Given the description of an element on the screen output the (x, y) to click on. 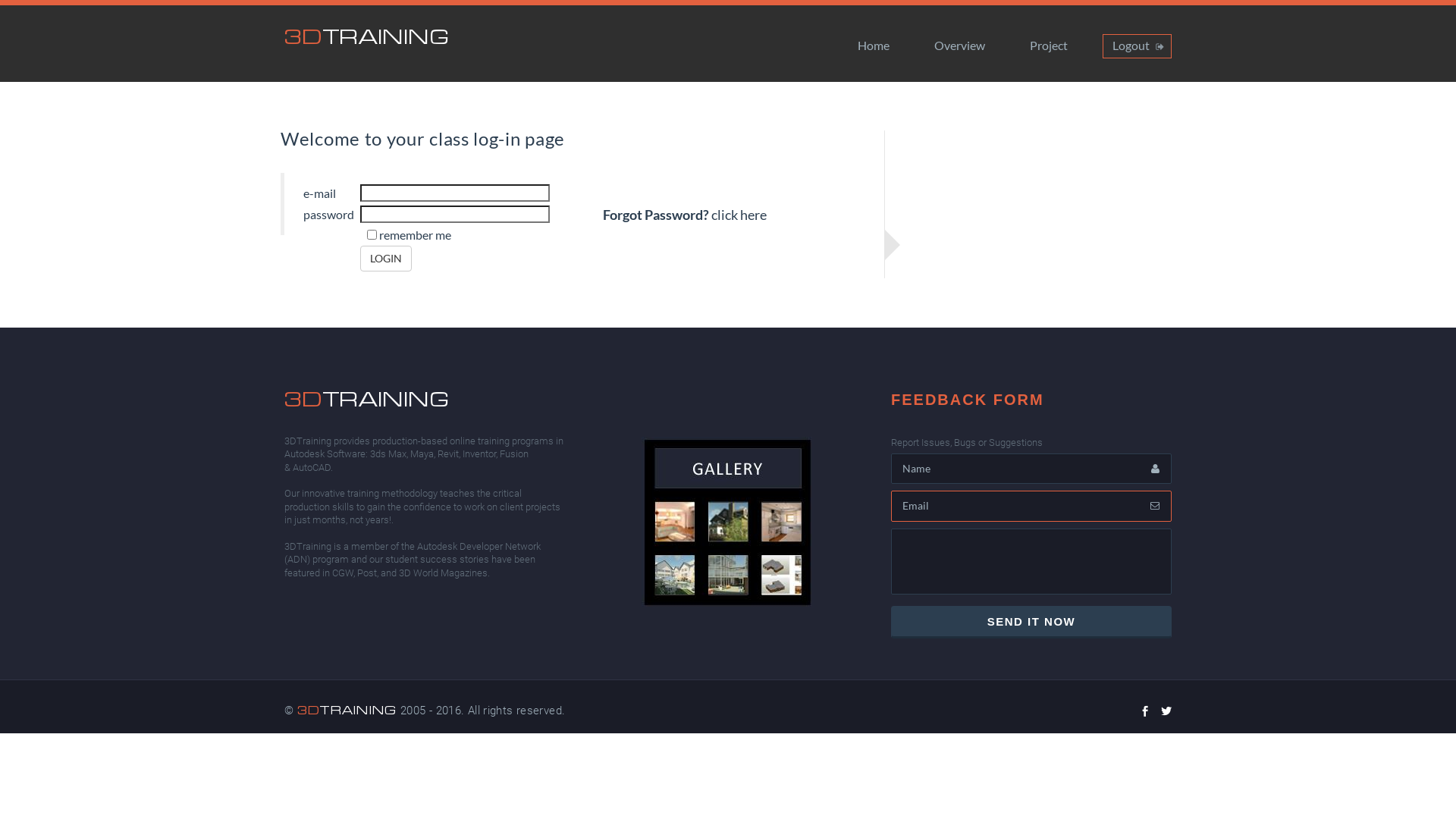
Home Element type: text (873, 46)
LOGIN Element type: text (385, 258)
Logout Element type: text (1136, 46)
3DTRAINING Element type: text (366, 398)
3DTRAINING Element type: text (347, 710)
Project Element type: text (1048, 46)
click here Element type: text (738, 214)
3DTRAINING Element type: text (366, 36)
Overview Element type: text (959, 46)
